Given the description of an element on the screen output the (x, y) to click on. 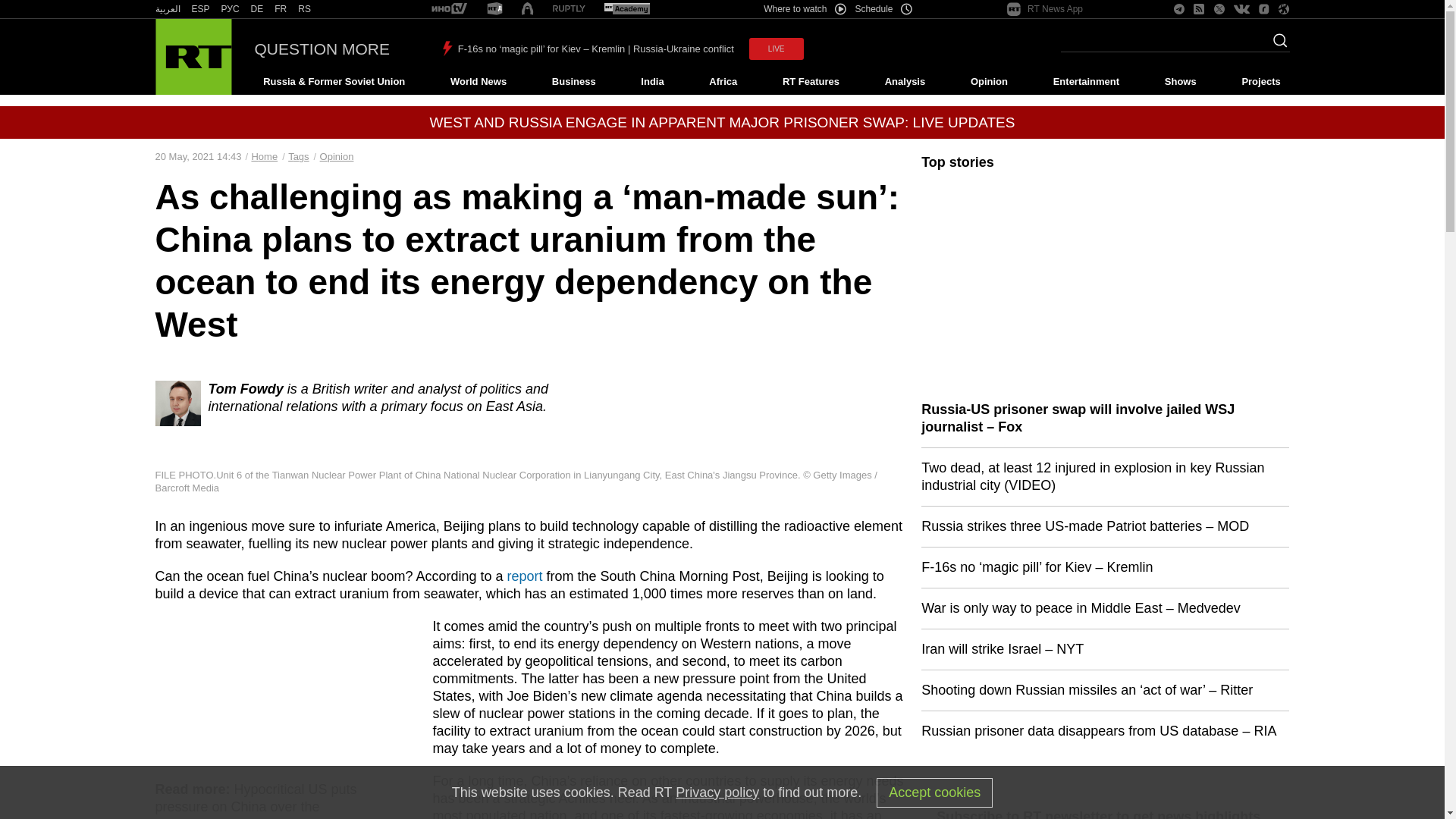
Entertainment (1085, 81)
RT  (448, 9)
RT  (304, 9)
RT  (256, 9)
Business (573, 81)
RT  (569, 8)
RT Features (810, 81)
DE (256, 9)
Analysis (905, 81)
World News (478, 81)
RT  (230, 9)
Opinion (988, 81)
Schedule (884, 9)
India (651, 81)
Search (1276, 44)
